Given the description of an element on the screen output the (x, y) to click on. 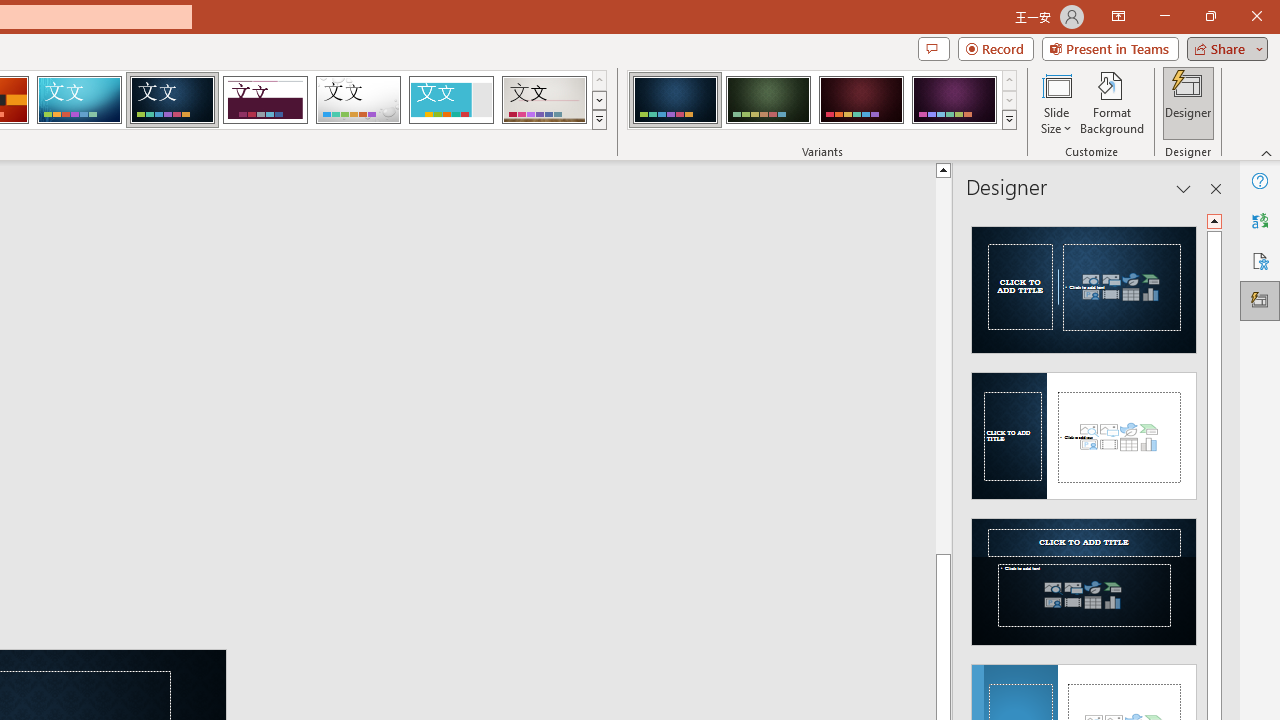
Damask Variant 1 (674, 100)
Damask Variant 3 (861, 100)
Damask Variant 4 (953, 100)
Variants (1009, 120)
